Given the description of an element on the screen output the (x, y) to click on. 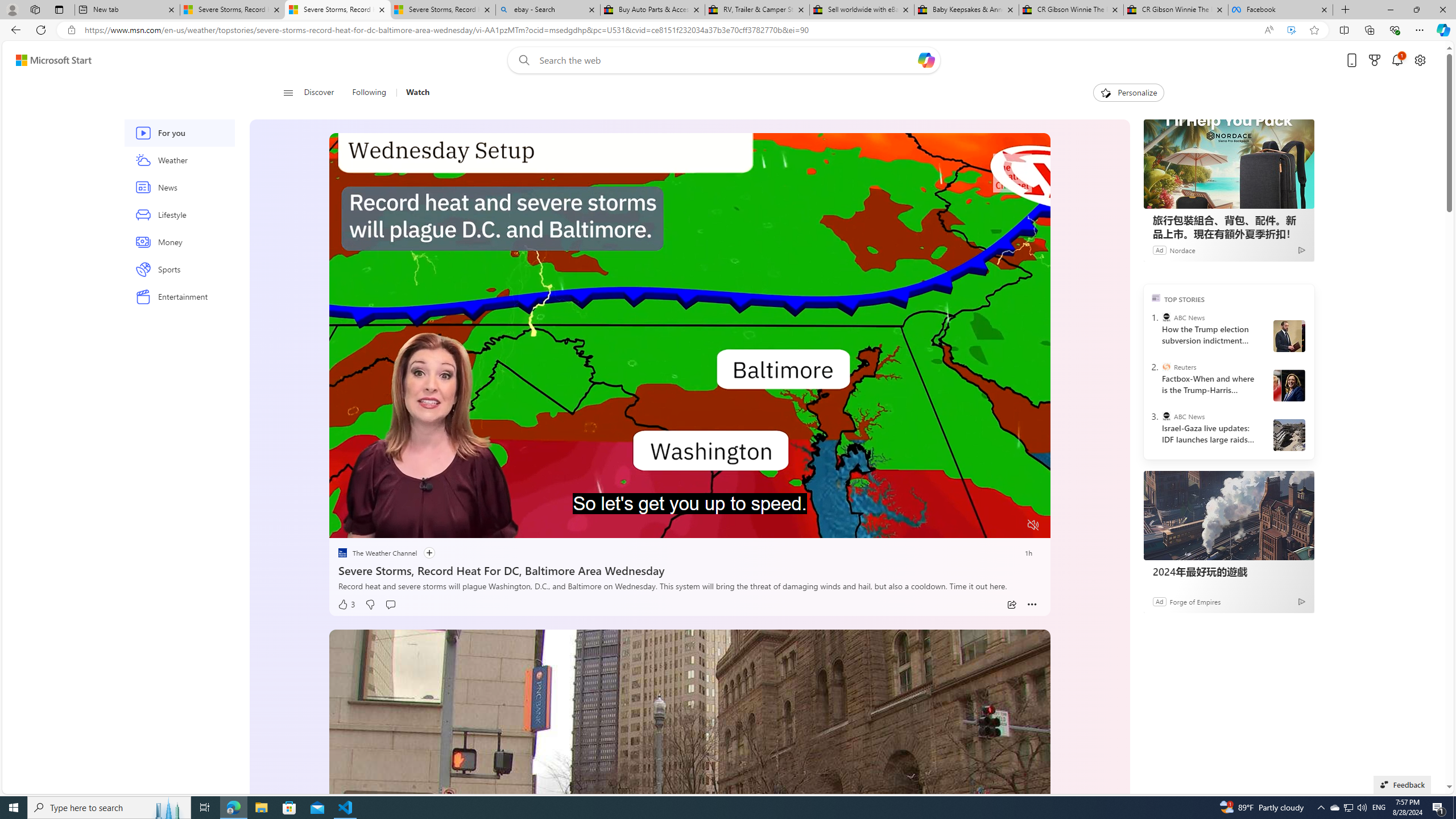
Open settings (1420, 60)
Buy Auto Parts & Accessories | eBay (652, 9)
Share (1010, 604)
Quality Settings (964, 525)
placeholder The Weather Channel (376, 552)
